Given the description of an element on the screen output the (x, y) to click on. 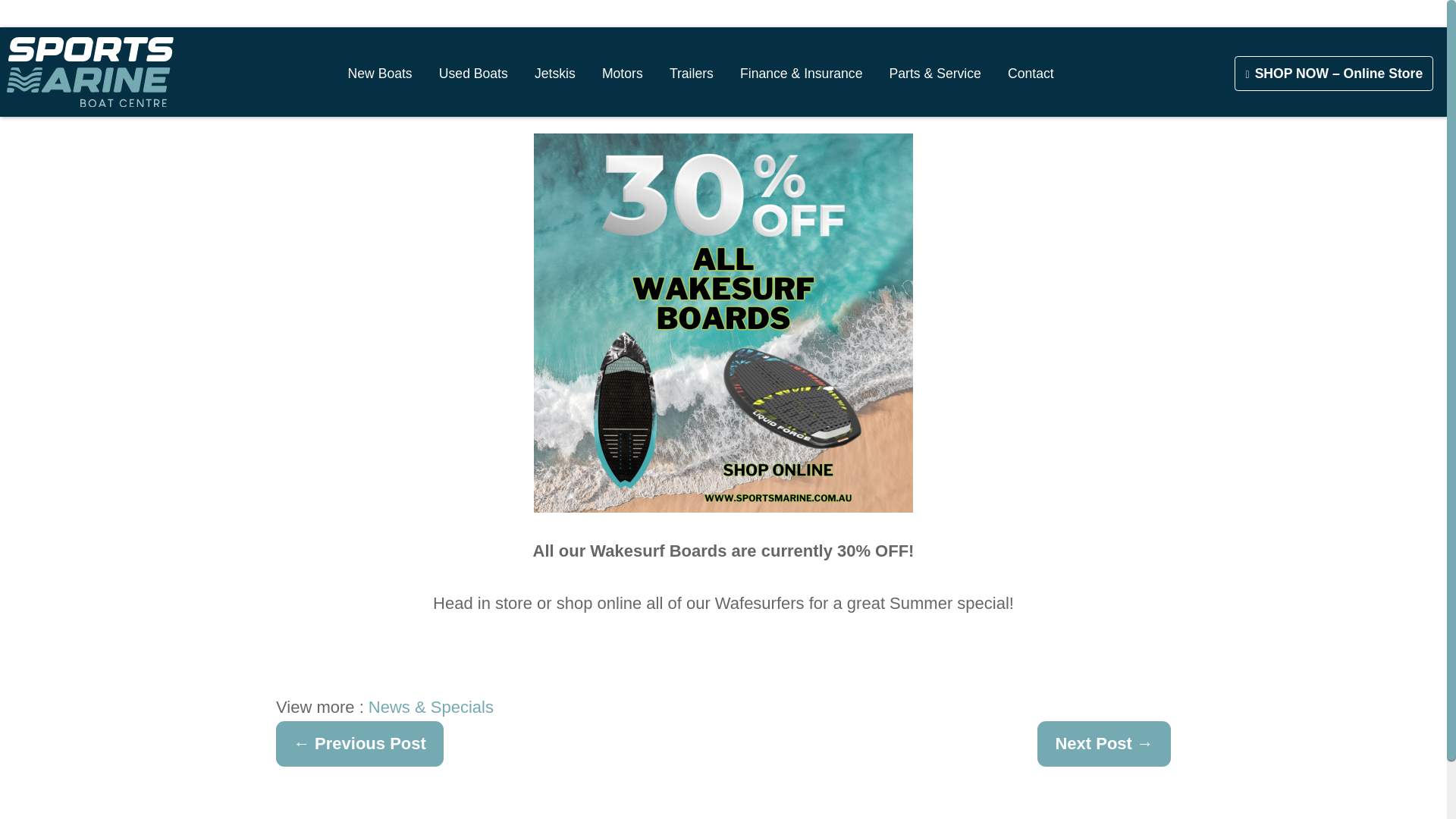
Trailers (691, 73)
Used Boats (473, 73)
Jetskis (554, 73)
Motors (622, 73)
New Boats (379, 73)
Home (90, 71)
Contact (1030, 73)
